Given the description of an element on the screen output the (x, y) to click on. 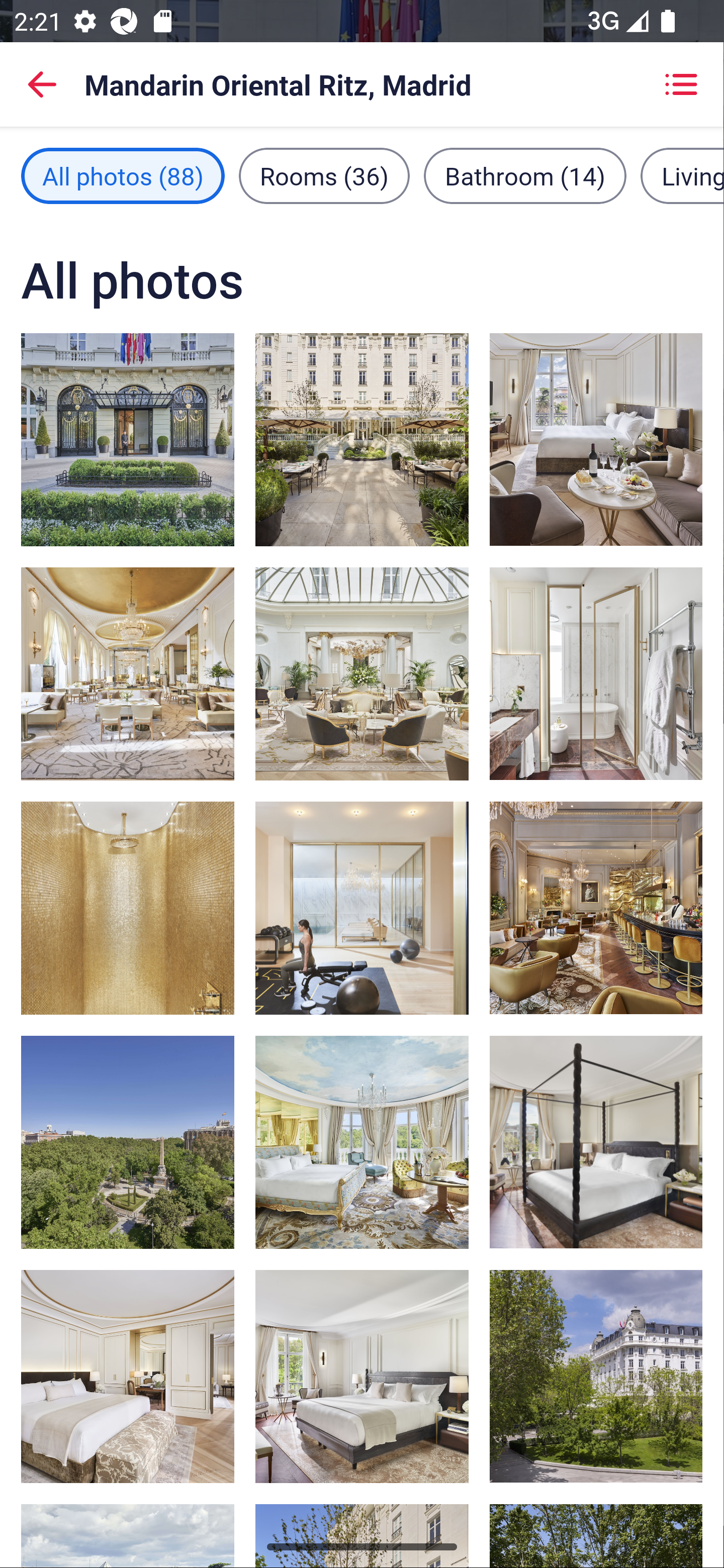
Back (42, 84)
Showing grid view (681, 84)
All photos filter, 88 images (122, 175)
Rooms filter, 36 images (323, 175)
Bathroom filter, 14 images (524, 175)
Living area filter, 11 images (681, 175)
Property entrance, image (127, 438)
Garden view, image (361, 438)
Restaurant, image (127, 673)
Restaurant, image (361, 673)
Gym, image (361, 907)
2 bars/lounges, Champagne bar, cocktail bar, image (595, 907)
City view, image (127, 1142)
Exterior, image (595, 1376)
